Given the description of an element on the screen output the (x, y) to click on. 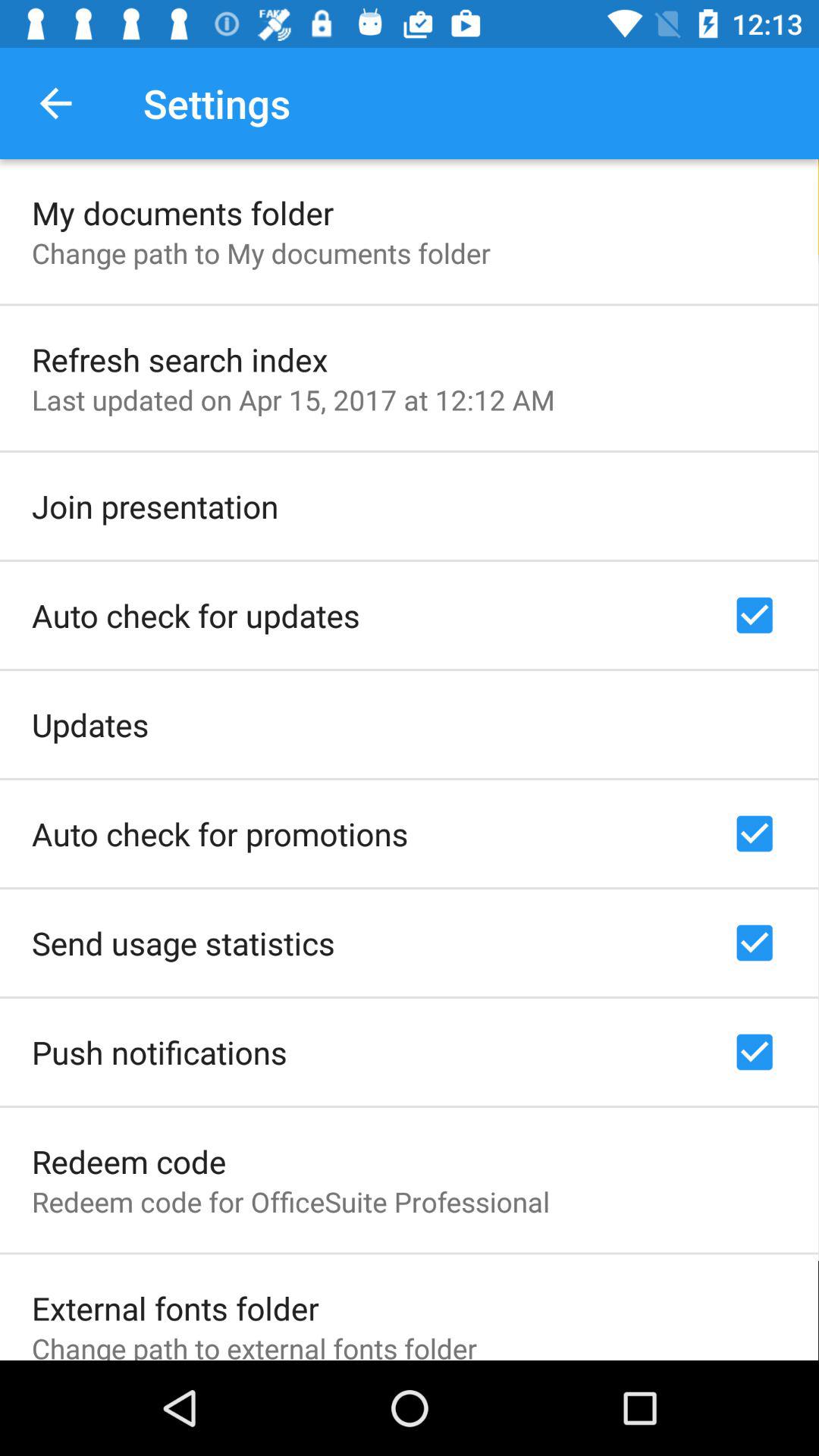
previous page (55, 103)
